Given the description of an element on the screen output the (x, y) to click on. 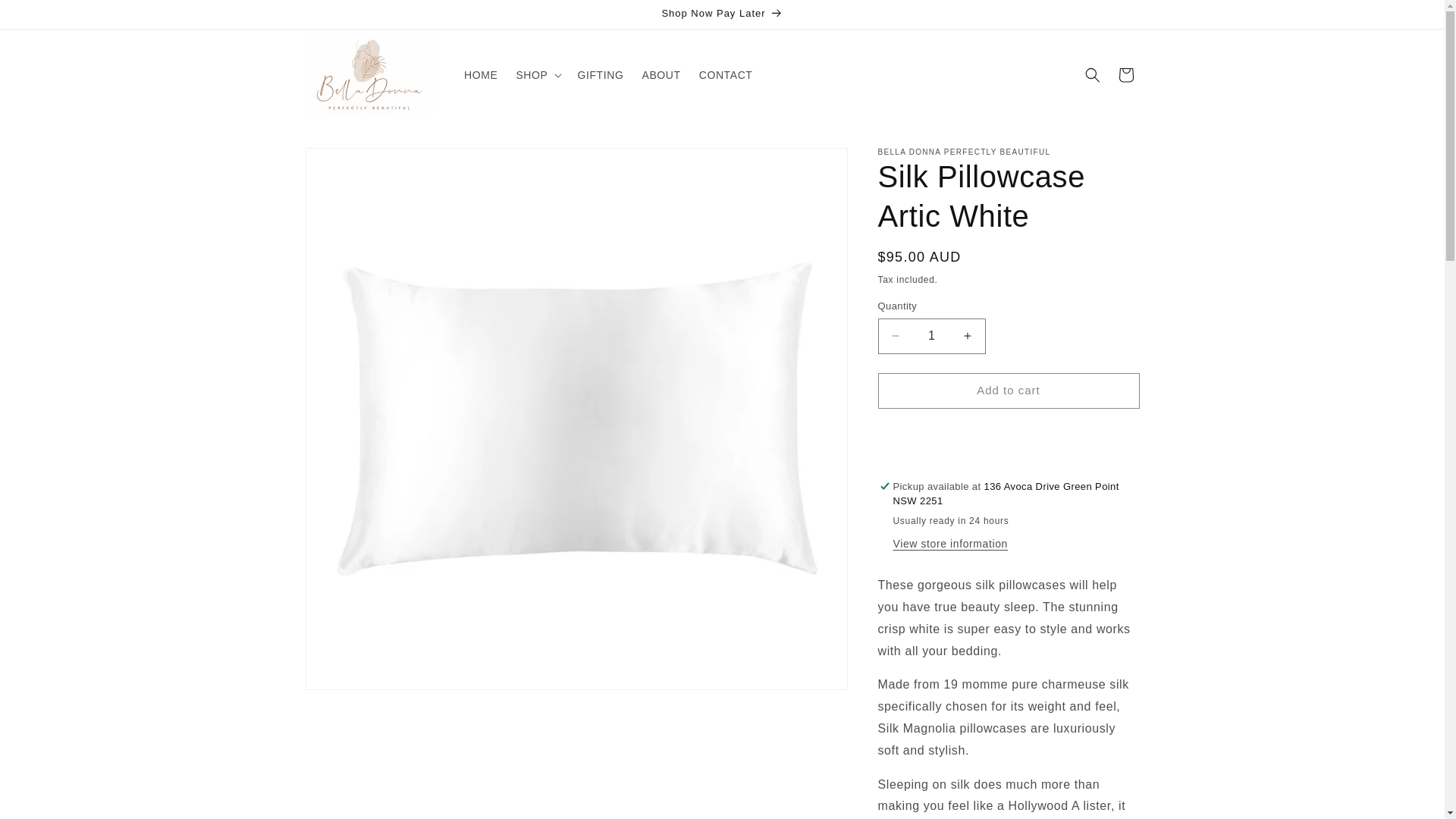
1 (931, 335)
Skip to content (45, 17)
Shop Now Pay Later (721, 14)
